Given the description of an element on the screen output the (x, y) to click on. 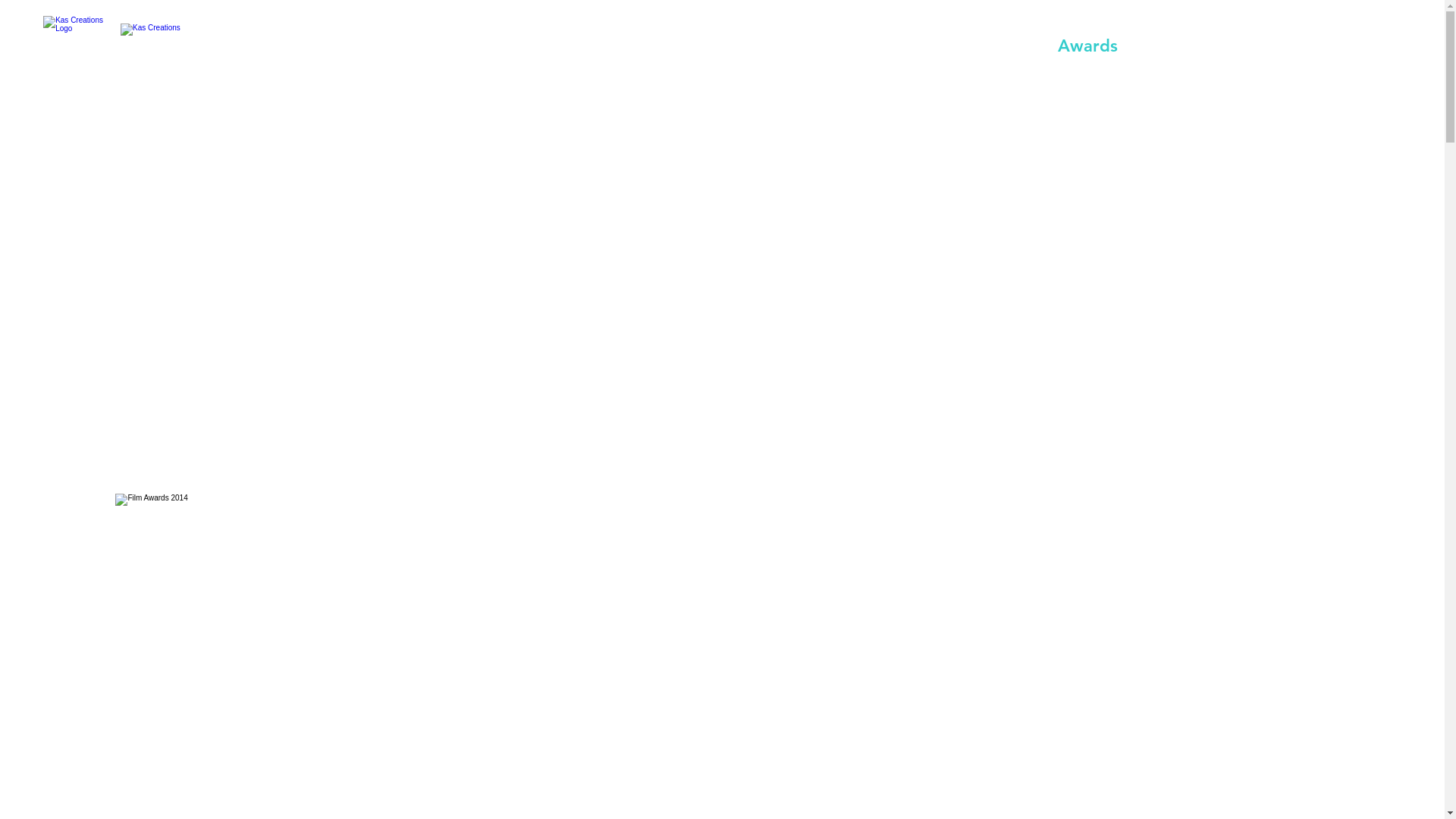
Our Work Element type: text (955, 46)
Awards Element type: text (1087, 46)
About Element type: text (699, 46)
Contact Element type: text (1316, 46)
Press Element type: text (1201, 46)
Services Element type: text (820, 46)
